Given the description of an element on the screen output the (x, y) to click on. 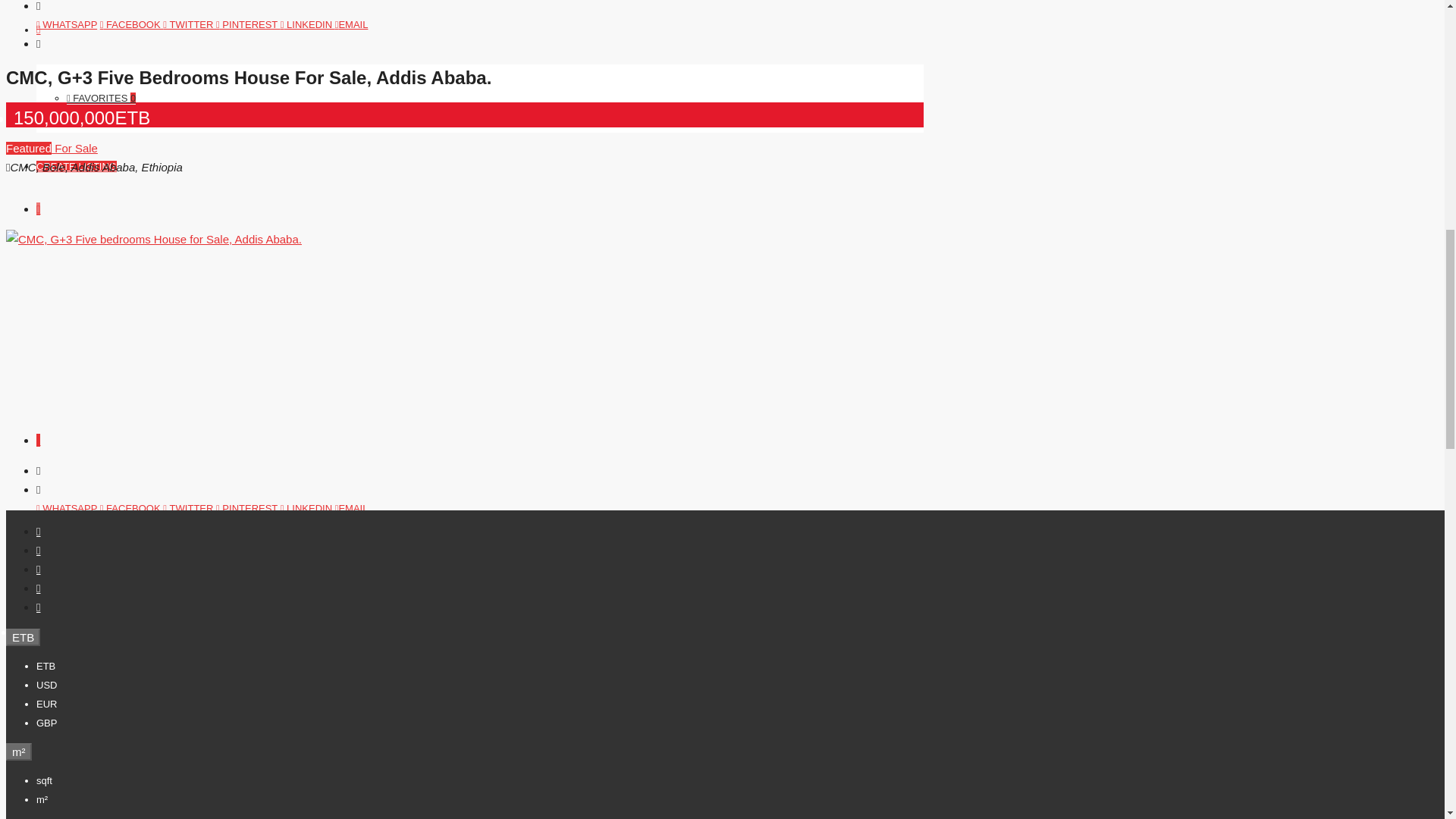
TWITTER (189, 24)
WHATSAPP (66, 24)
FACEBOOK (131, 24)
FAVORITES 0 (100, 98)
CREATE LISTING (76, 165)
